Given the description of an element on the screen output the (x, y) to click on. 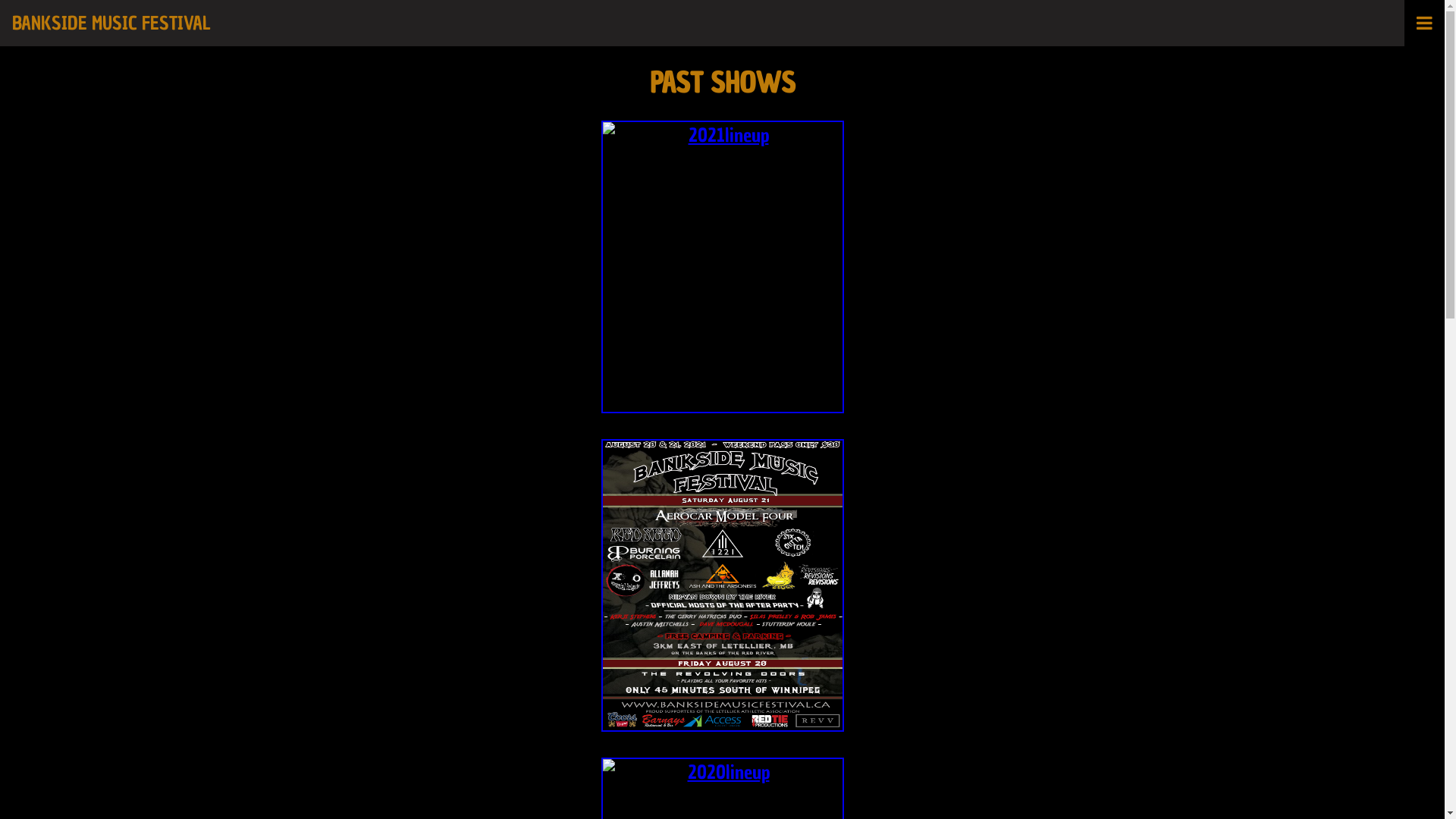
BANKSIDE MUSIC FESTIVAL Element type: text (722, 23)
